Given the description of an element on the screen output the (x, y) to click on. 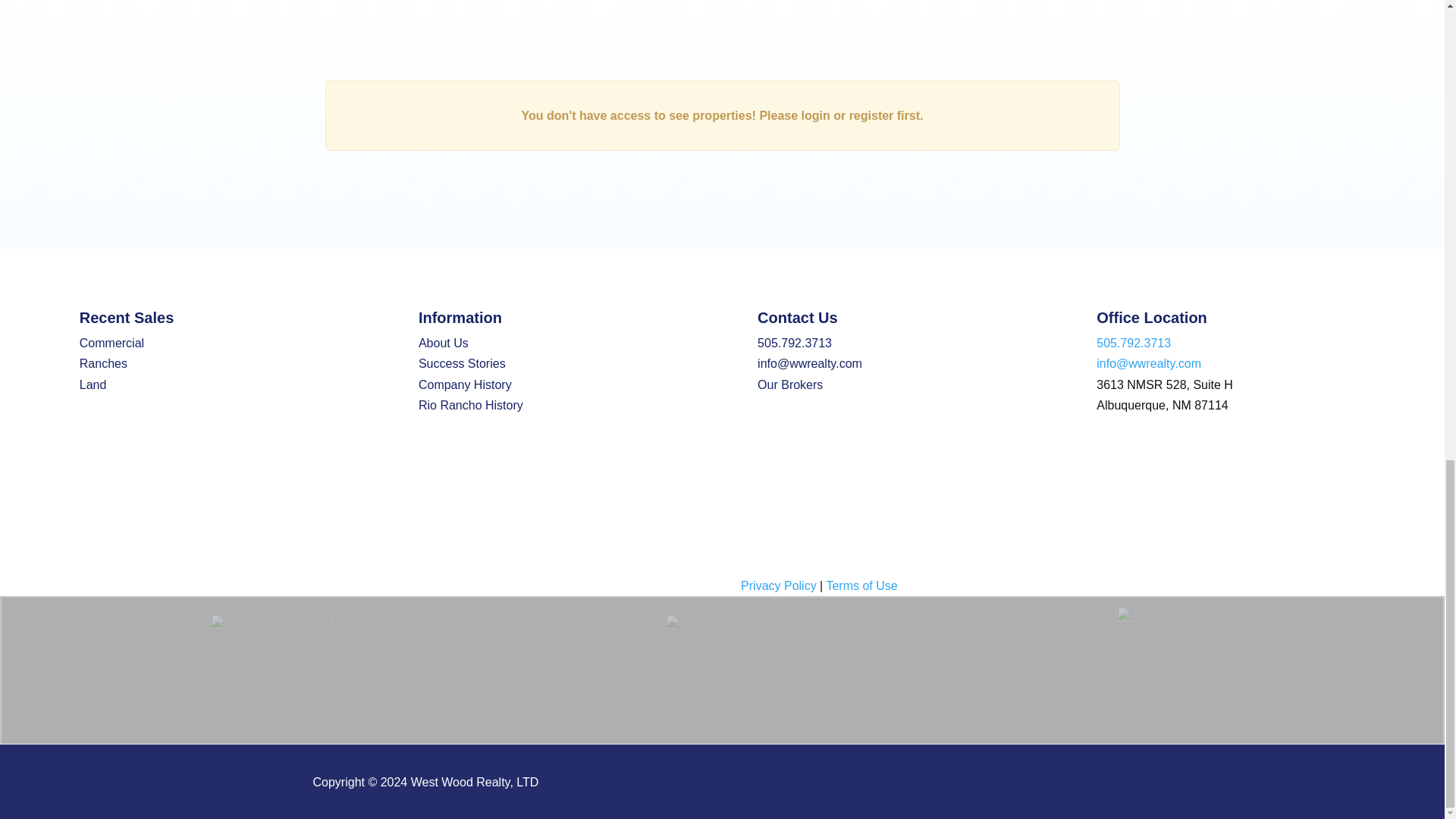
Our Brokers (789, 384)
Success Stories (462, 363)
Land (93, 384)
Ranches (104, 363)
505.792.3713 (794, 342)
Commercial (112, 342)
Company History (465, 384)
About Us (443, 342)
505.792.3713 (1133, 342)
Rio Rancho History (470, 404)
